Given the description of an element on the screen output the (x, y) to click on. 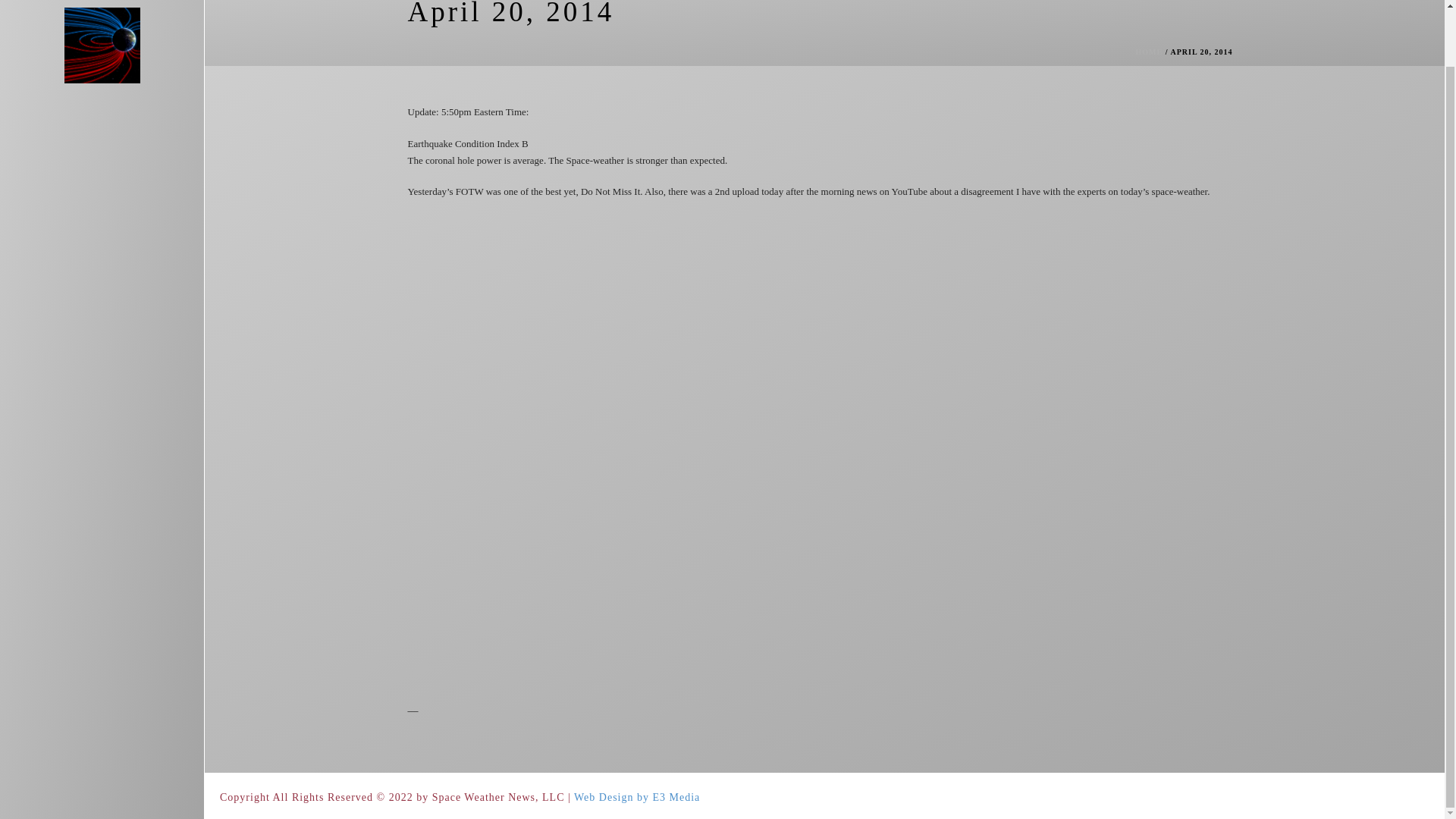
Web Design by E3 Media (636, 797)
HOME (1149, 51)
Your Mind is Your Weapon (101, 11)
